Given the description of an element on the screen output the (x, y) to click on. 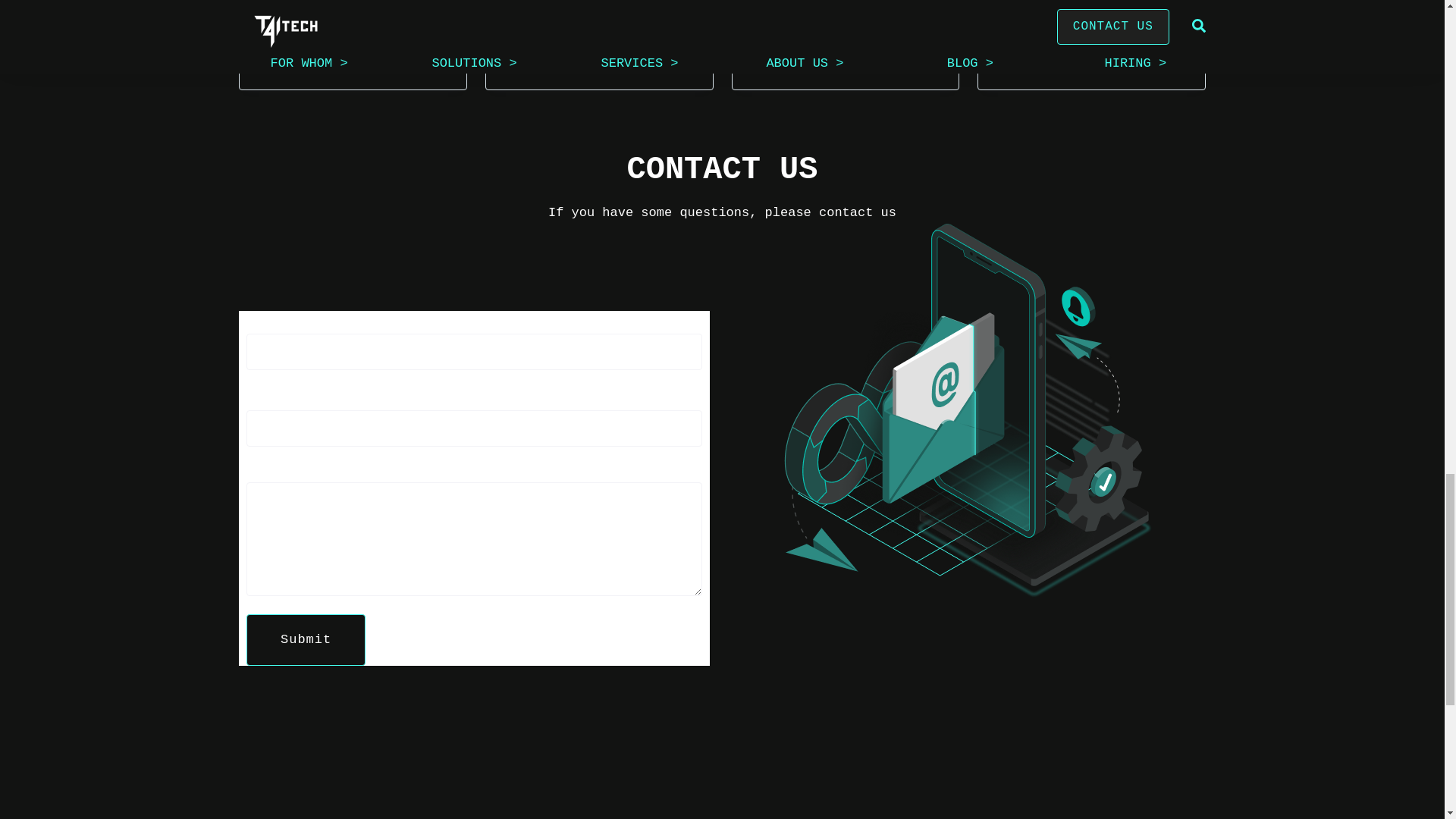
reCAPTCHA (474, 605)
Submit (305, 671)
Submit (305, 671)
